Given the description of an element on the screen output the (x, y) to click on. 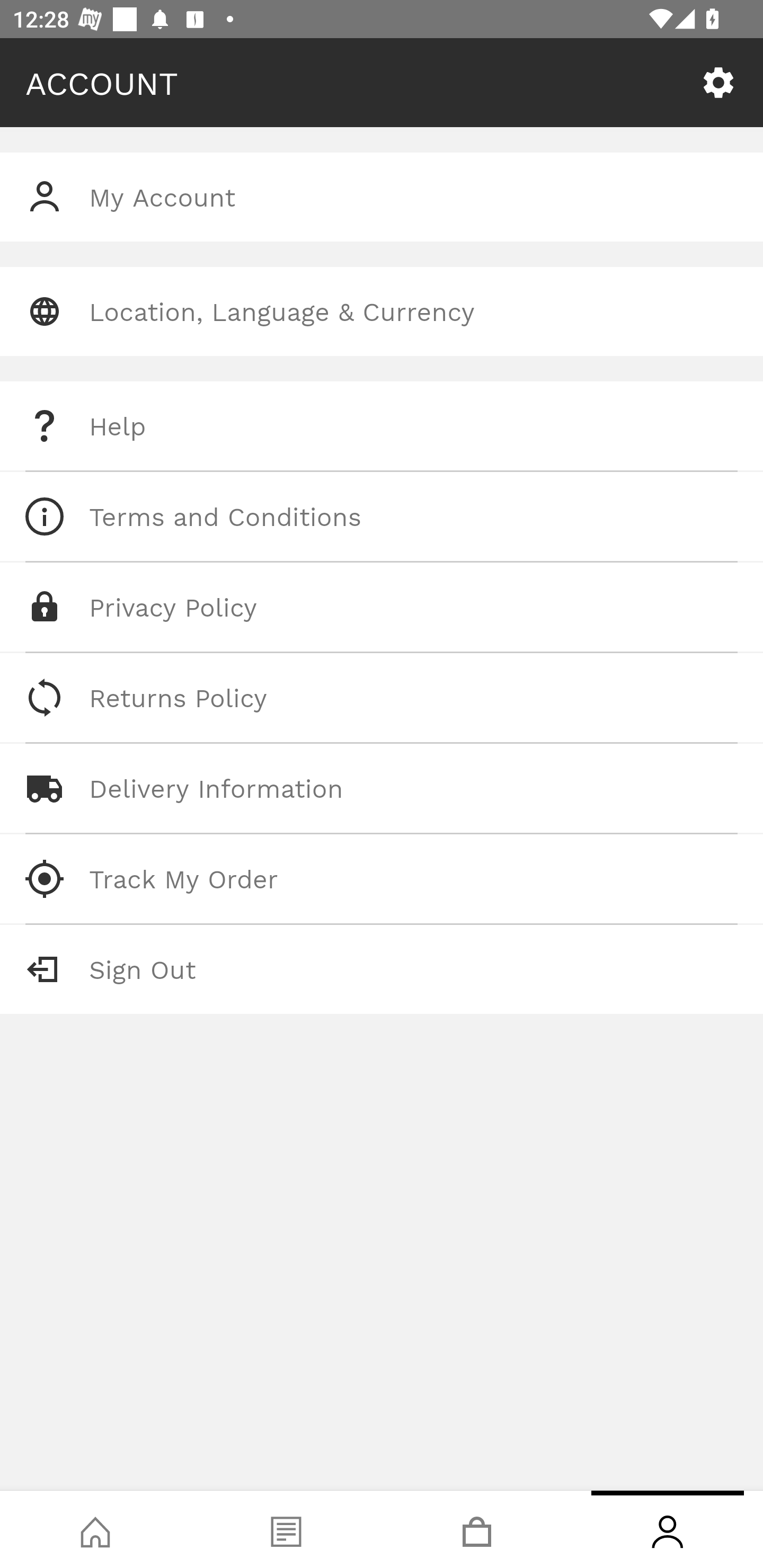
SETTINGS (718, 82)
My Account (381, 196)
Location, Language & Currency (381, 310)
Help (381, 425)
Terms and Conditions (381, 516)
Privacy Policy (381, 607)
Returns Policy (381, 697)
Delivery Information (381, 787)
Track My Order (381, 878)
Sign Out (381, 969)
Shop, tab, 1 of 4 (95, 1529)
Blog, tab, 2 of 4 (285, 1529)
Basket, tab, 3 of 4 (476, 1529)
Account, tab, 4 of 4 (667, 1529)
